Given the description of an element on the screen output the (x, y) to click on. 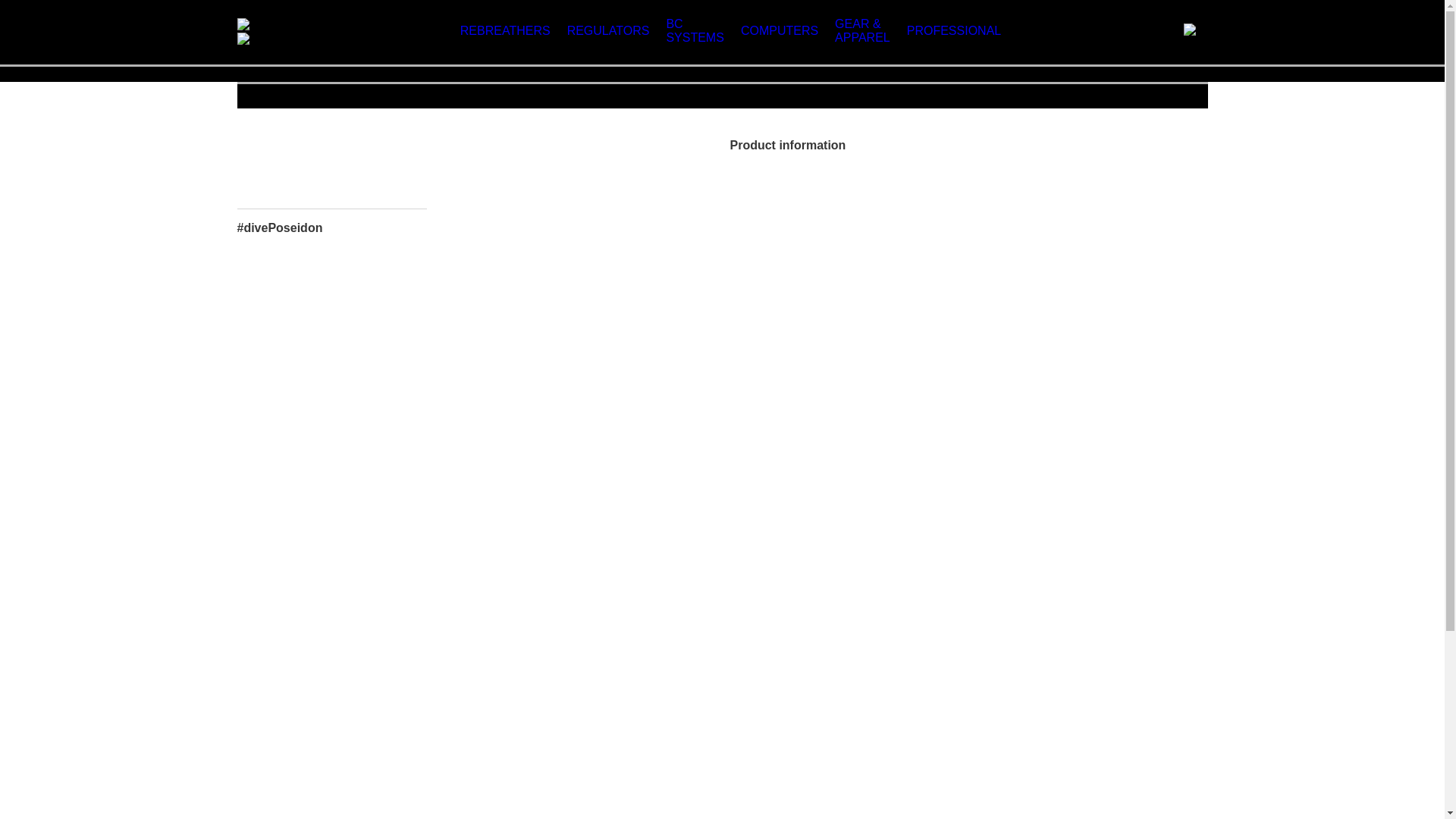
REGULATORS (608, 30)
COMPUTERS (779, 30)
PROFESSIONAL (954, 30)
BC SYSTEMS (694, 30)
